Given the description of an element on the screen output the (x, y) to click on. 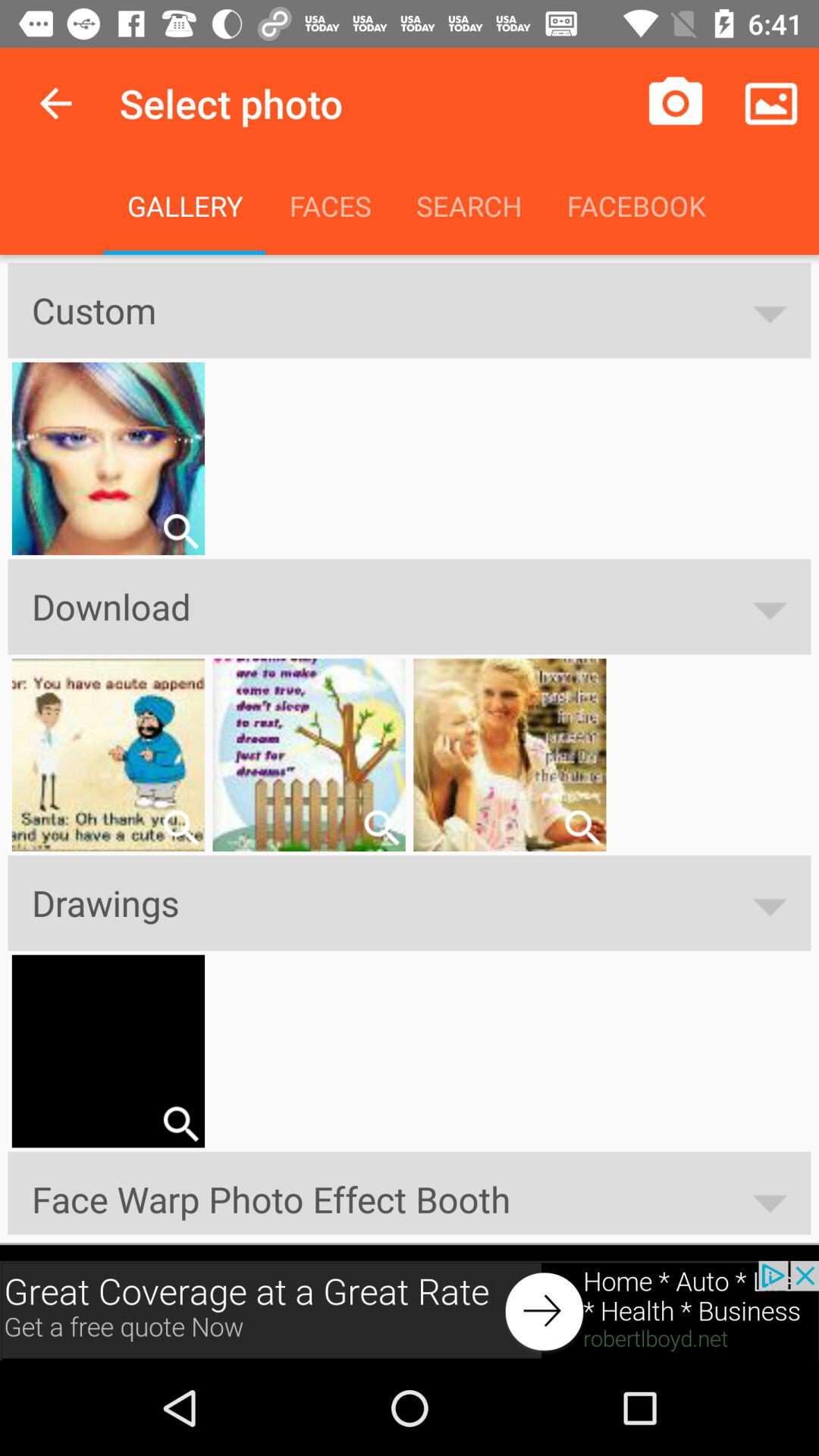
advertisement for robertboyd.net (409, 1310)
